Given the description of an element on the screen output the (x, y) to click on. 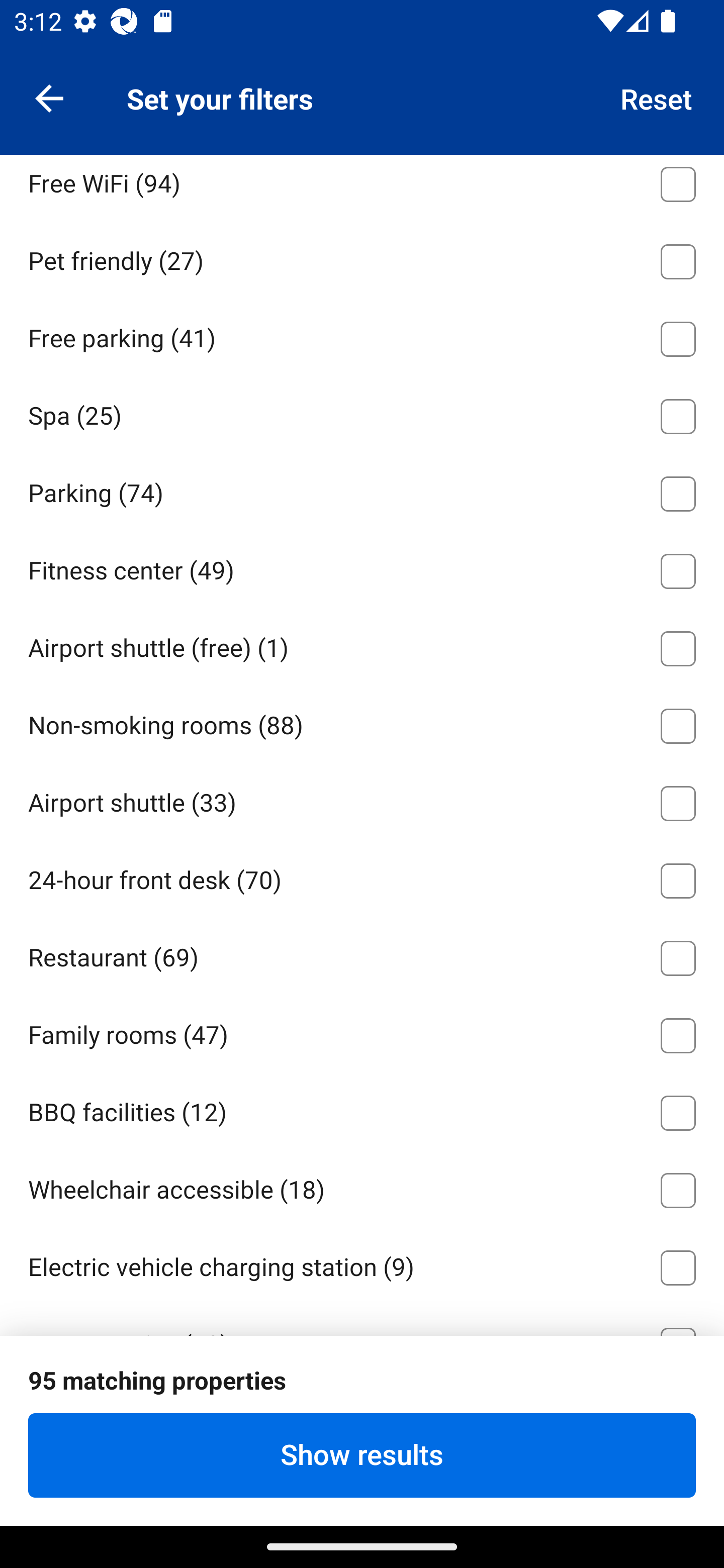
Navigate up (49, 97)
Reset (656, 97)
Swimming pool ⁦(95) (361, 103)
Free WiFi ⁦(94) (361, 187)
Pet friendly ⁦(27) (361, 257)
Free parking ⁦(41) (361, 335)
Spa ⁦(25) (361, 412)
Parking ⁦(74) (361, 490)
Fitness center ⁦(49) (361, 567)
Airport shuttle (free) ⁦(1) (361, 644)
Non-smoking rooms ⁦(88) (361, 722)
Airport shuttle ⁦(33) (361, 800)
24-hour front desk ⁦(70) (361, 876)
Restaurant ⁦(69) (361, 954)
Family rooms ⁦(47) (361, 1032)
BBQ facilities ⁦(12) (361, 1108)
Wheelchair accessible ⁦(18) (361, 1186)
Electric vehicle charging station ⁦(9) (361, 1264)
Show results (361, 1454)
